Given the description of an element on the screen output the (x, y) to click on. 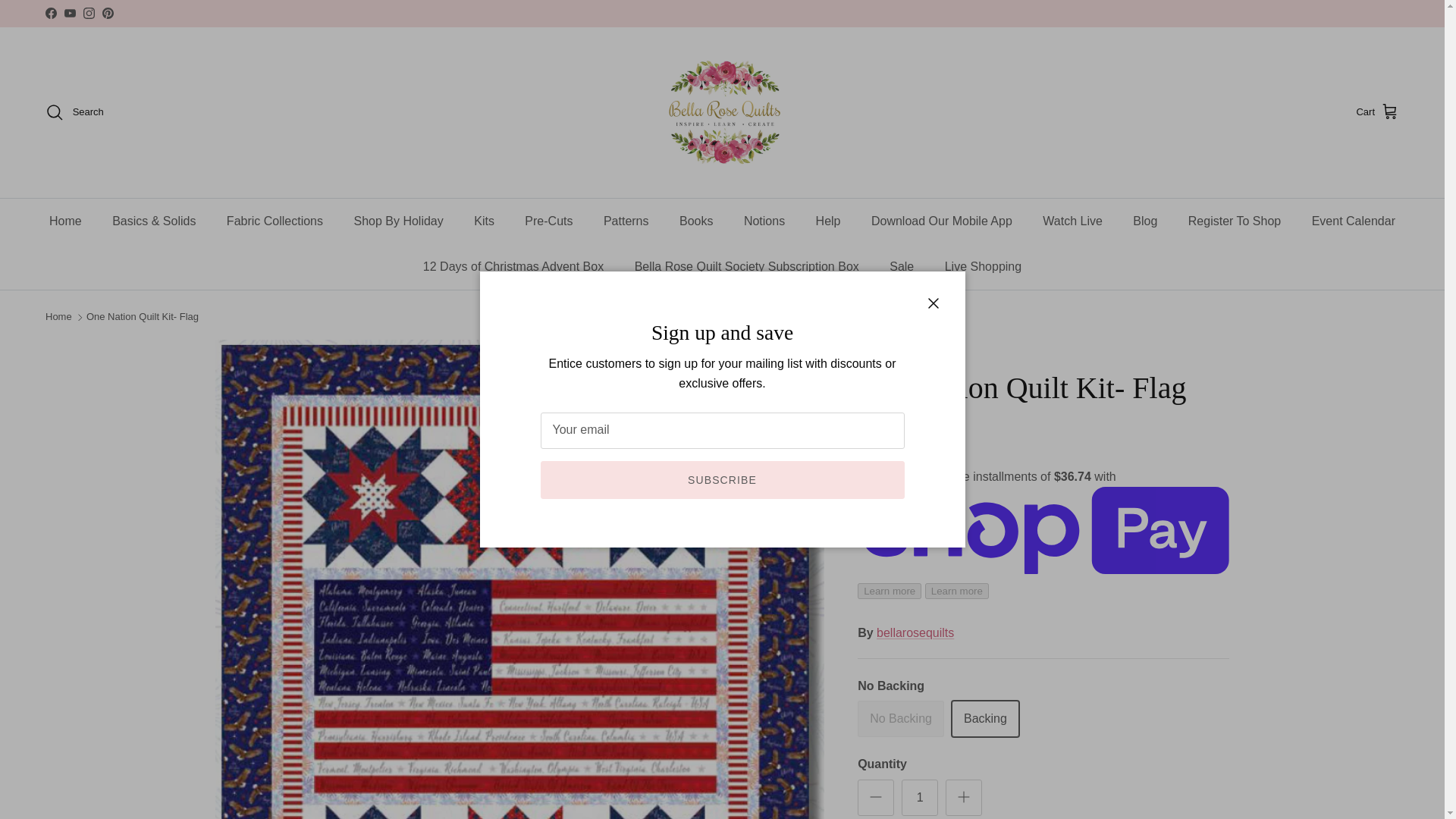
YouTube (69, 12)
bellarosequilts on Pinterest (107, 12)
Pinterest (107, 12)
bellarosequilts (722, 112)
Search (74, 112)
bellarosequilts on YouTube (69, 12)
Instagram (88, 12)
Home (65, 221)
Facebook (50, 12)
bellarosequilts on Instagram (88, 12)
Cart (1377, 112)
bellarosequilts on Facebook (50, 12)
Sold out (900, 719)
Fabric Collections (274, 221)
1 (919, 797)
